Given the description of an element on the screen output the (x, y) to click on. 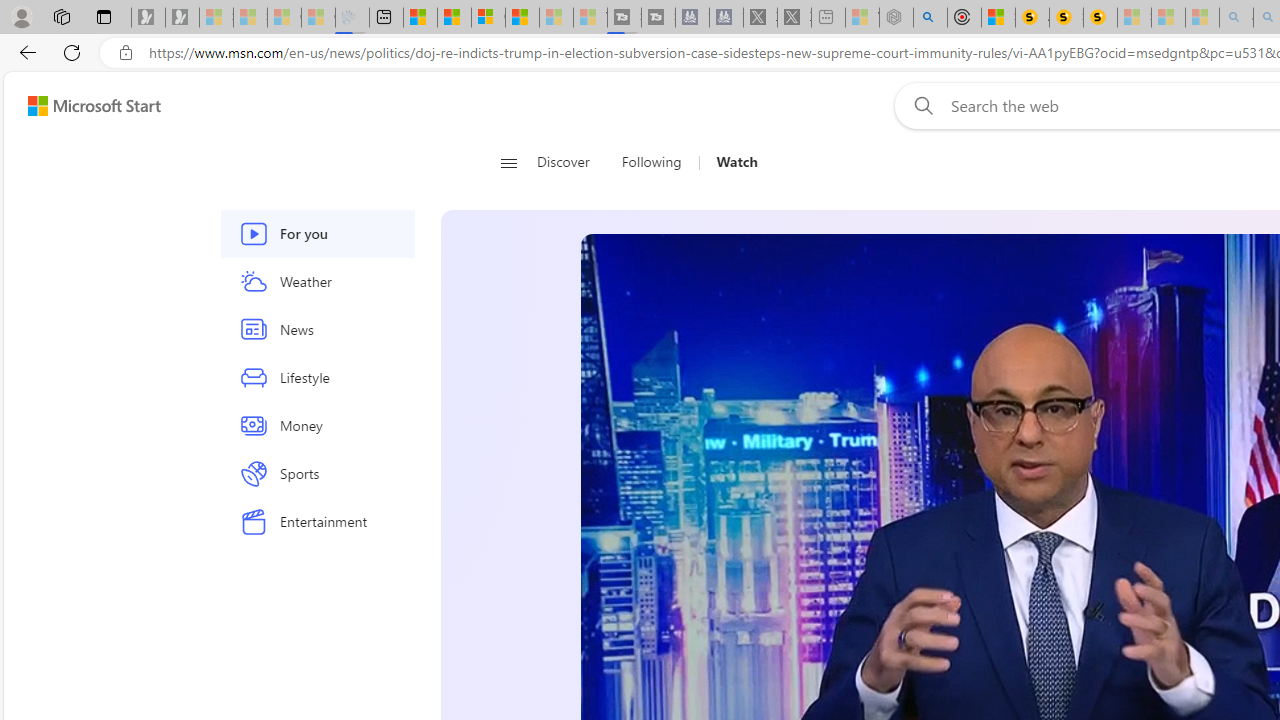
Watch (737, 162)
poe - Search (930, 17)
Skip to footer (82, 105)
Microsoft Start - Sleeping (556, 17)
Following (653, 162)
amazon - Search - Sleeping (1236, 17)
Discover (563, 162)
View site information (125, 53)
